Given the description of an element on the screen output the (x, y) to click on. 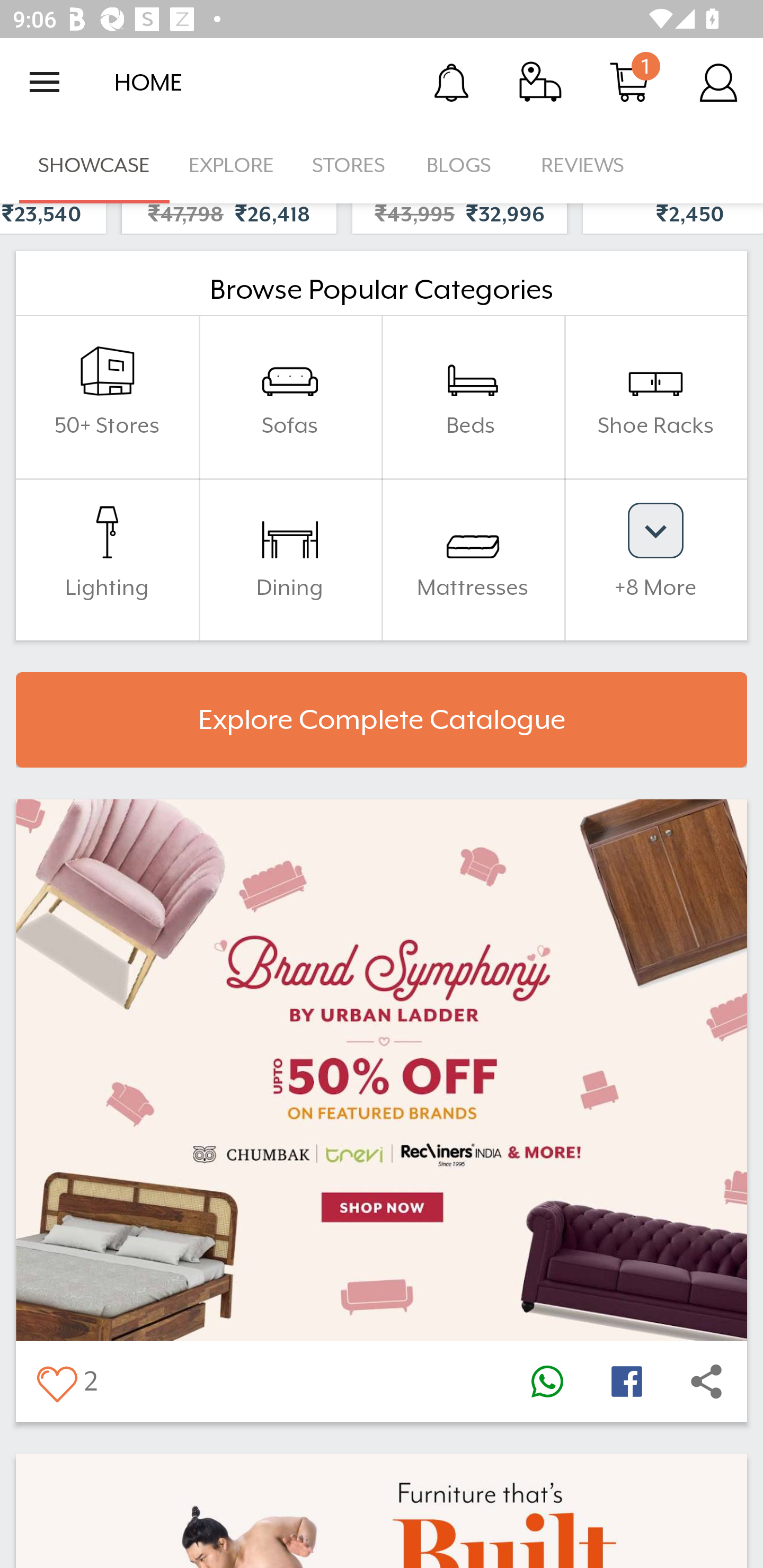
Open navigation drawer (44, 82)
Notification (450, 81)
Track Order (540, 81)
Cart (629, 81)
Account Details (718, 81)
SHOWCASE (94, 165)
EXPLORE (230, 165)
STORES (349, 165)
BLOGS (464, 165)
REVIEWS (582, 165)
50+ Stores (106, 397)
Sofas (289, 397)
Beds  (473, 397)
Shoe Racks (655, 397)
Lighting (106, 558)
Dining (289, 558)
Mattresses (473, 558)
 +8 More (655, 558)
Explore Complete Catalogue (381, 720)
 (55, 1381)
 (547, 1381)
 (626, 1381)
 (706, 1381)
